Given the description of an element on the screen output the (x, y) to click on. 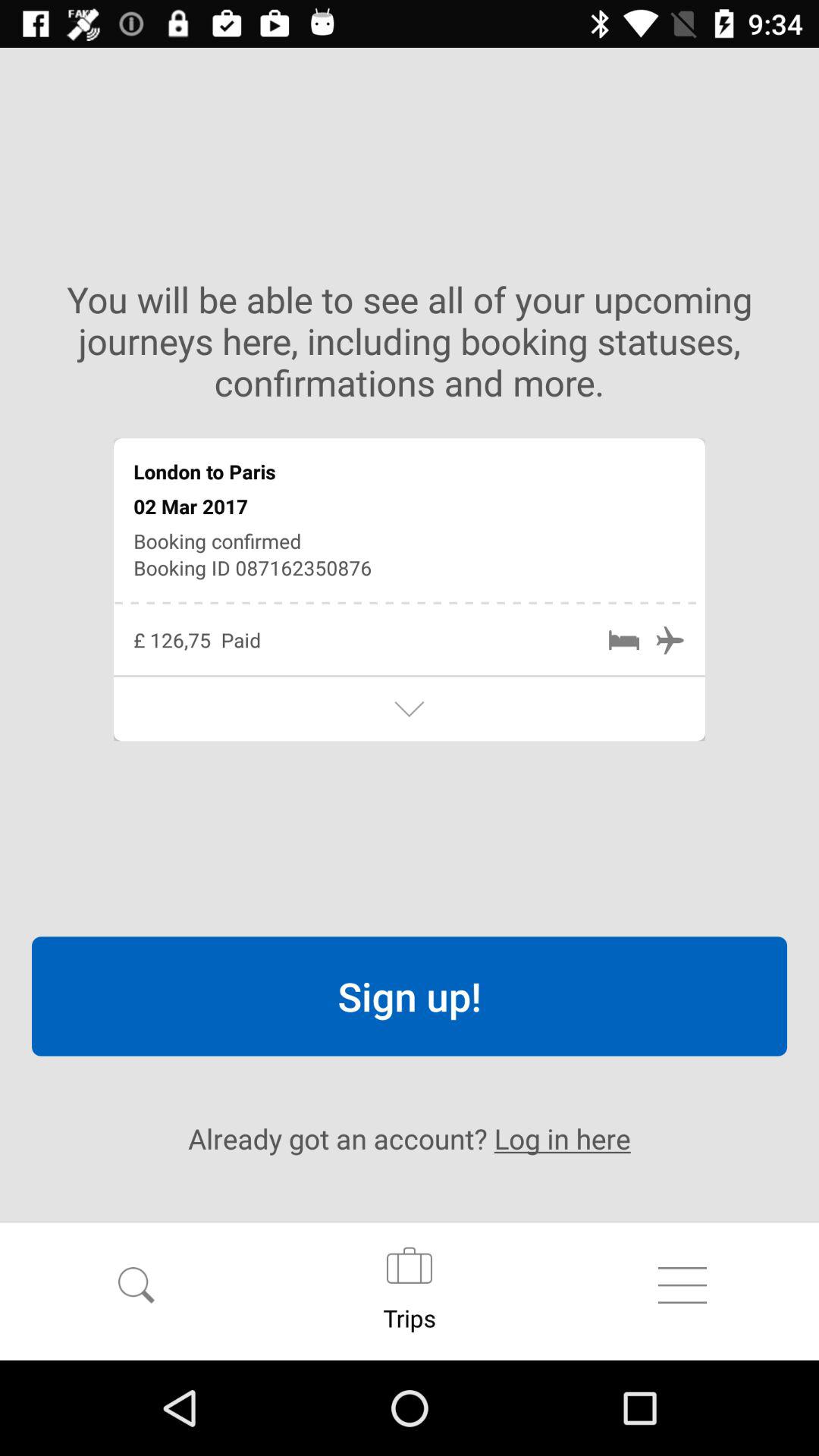
tap item above already got an item (409, 996)
